Given the description of an element on the screen output the (x, y) to click on. 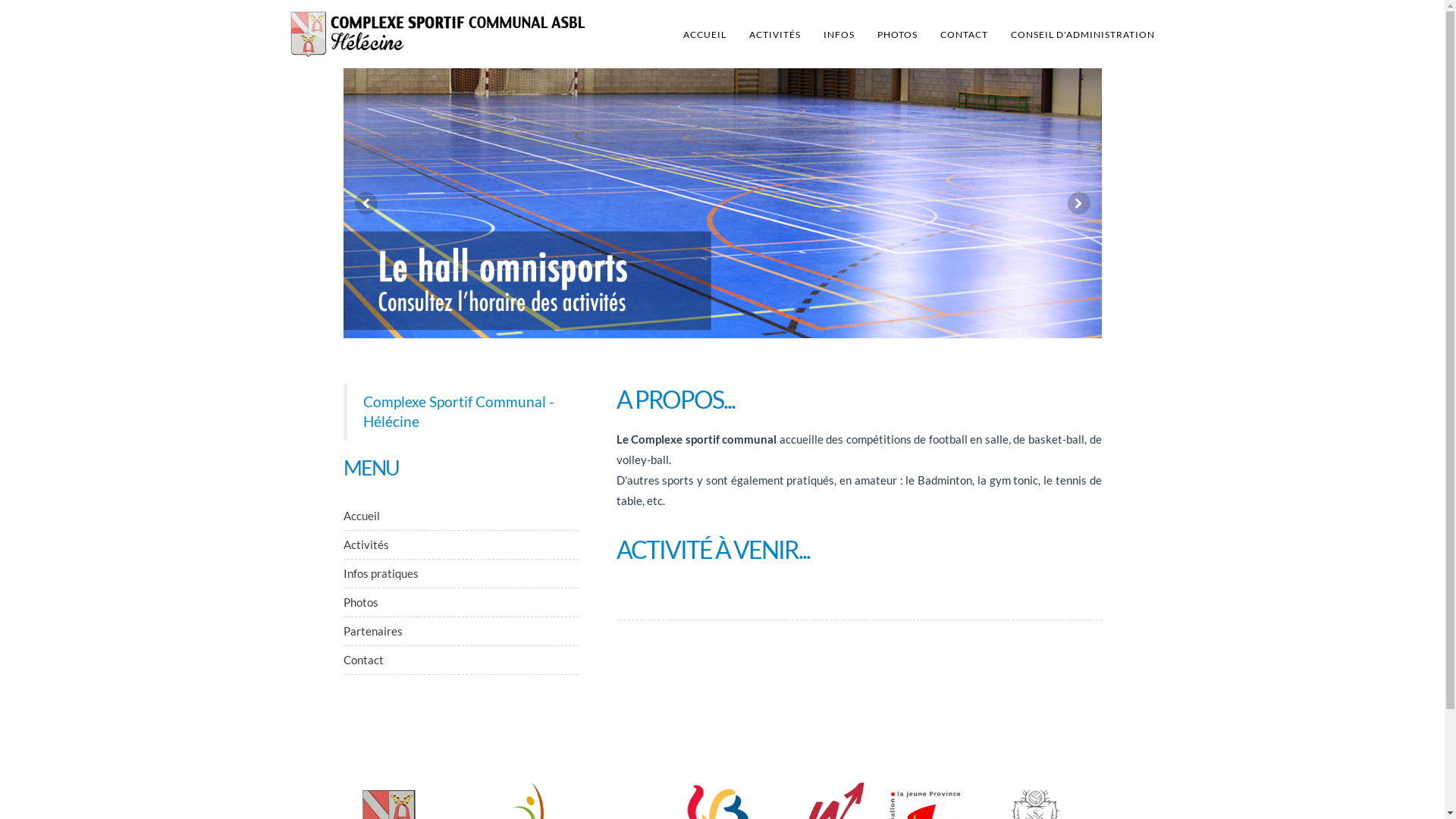
Partenaires Element type: text (371, 630)
Photos Element type: text (359, 601)
Contact Element type: text (362, 659)
CONTACT Element type: text (963, 33)
CONSEIL D'ADMINISTRATION Element type: text (1082, 33)
PHOTOS Element type: text (897, 33)
A PROPOS... Element type: text (674, 399)
Accueil Element type: text (360, 515)
ACCUEIL Element type: text (704, 33)
Infos pratiques Element type: text (379, 573)
INFOS Element type: text (838, 33)
